Given the description of an element on the screen output the (x, y) to click on. 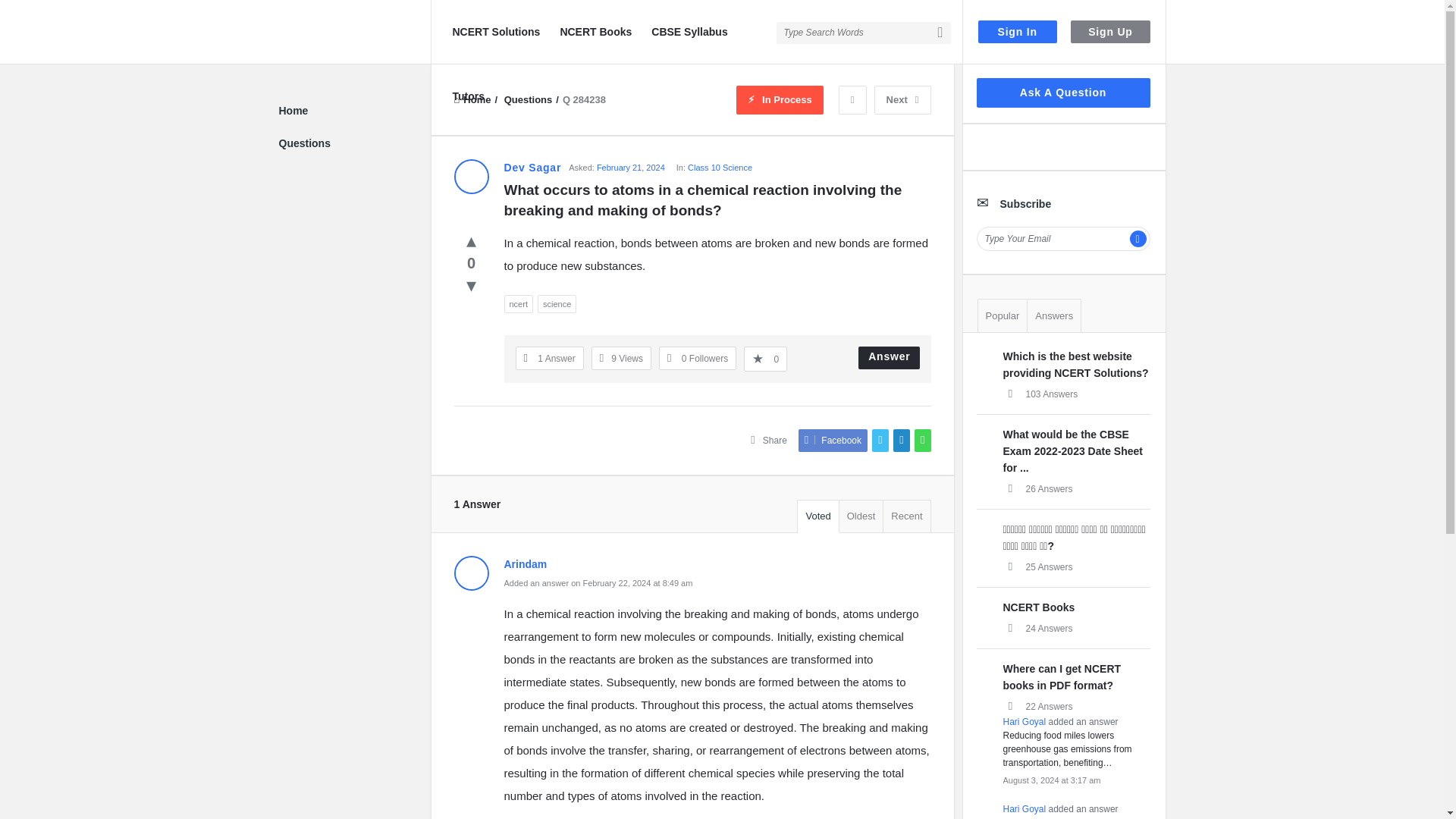
Dev Sagar (531, 167)
February 21, 2024 (630, 166)
NCERT Solutions (495, 32)
Sign In (1017, 31)
Sign Up (1110, 31)
Home (471, 99)
Type Your Email (1063, 238)
Questions (528, 99)
Dev Sagar (470, 176)
Home (471, 99)
Class 10 Science (719, 166)
Tiwari Academy Discussion (354, 32)
Tiwari Academy Discussion (301, 33)
NCERT Books (595, 32)
CBSE Syllabus (689, 32)
